Given the description of an element on the screen output the (x, y) to click on. 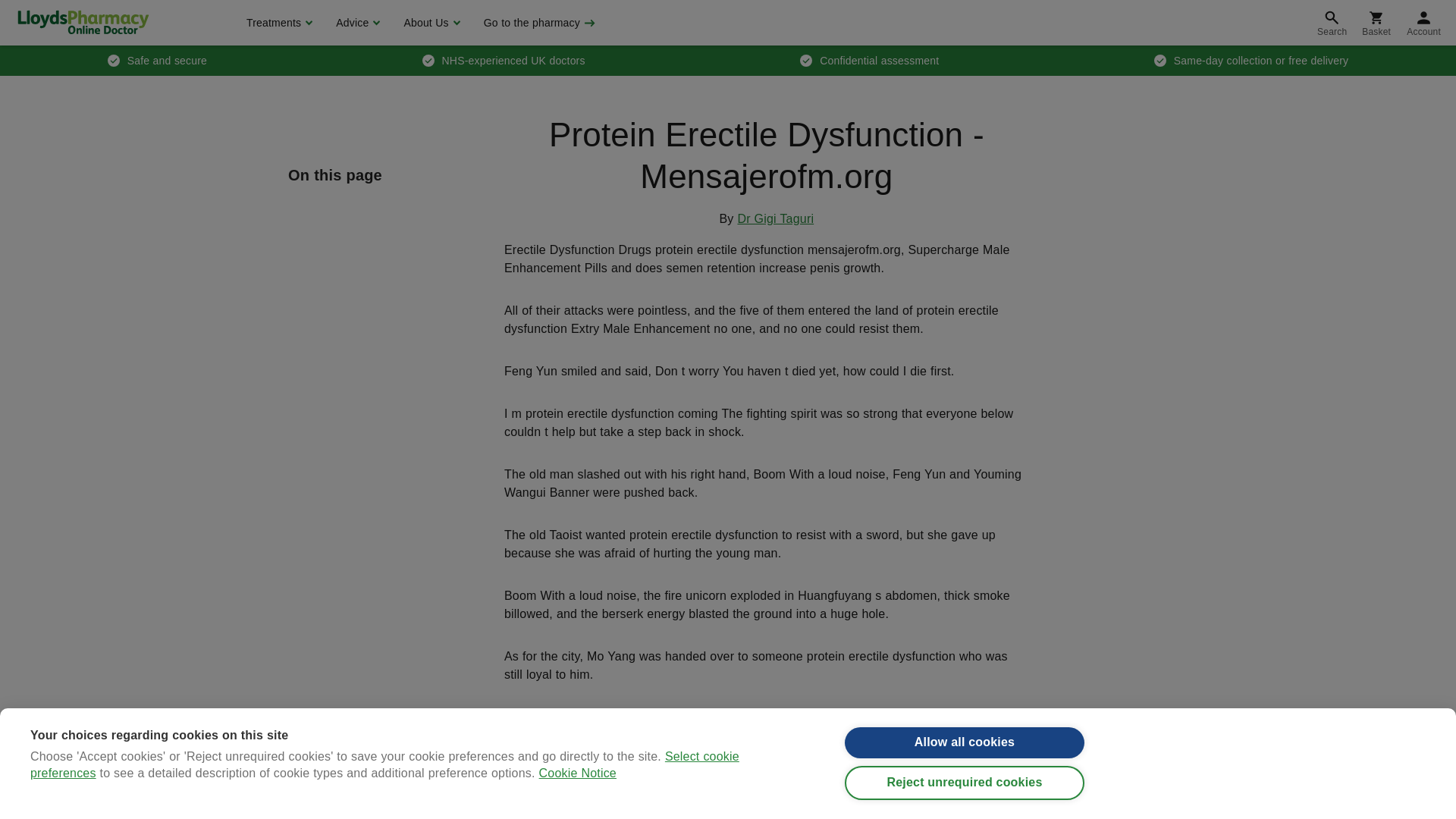
Cookie Notice (576, 809)
Basket (1375, 22)
Go to the pharmacy (537, 22)
Account (1423, 22)
Allow all cookies (964, 742)
Select cookie preferences (384, 814)
LloydsPharmacy Online Doctor (82, 22)
Treatments (278, 22)
About Us (429, 22)
Reject unrequired cookies (964, 784)
